Given the description of an element on the screen output the (x, y) to click on. 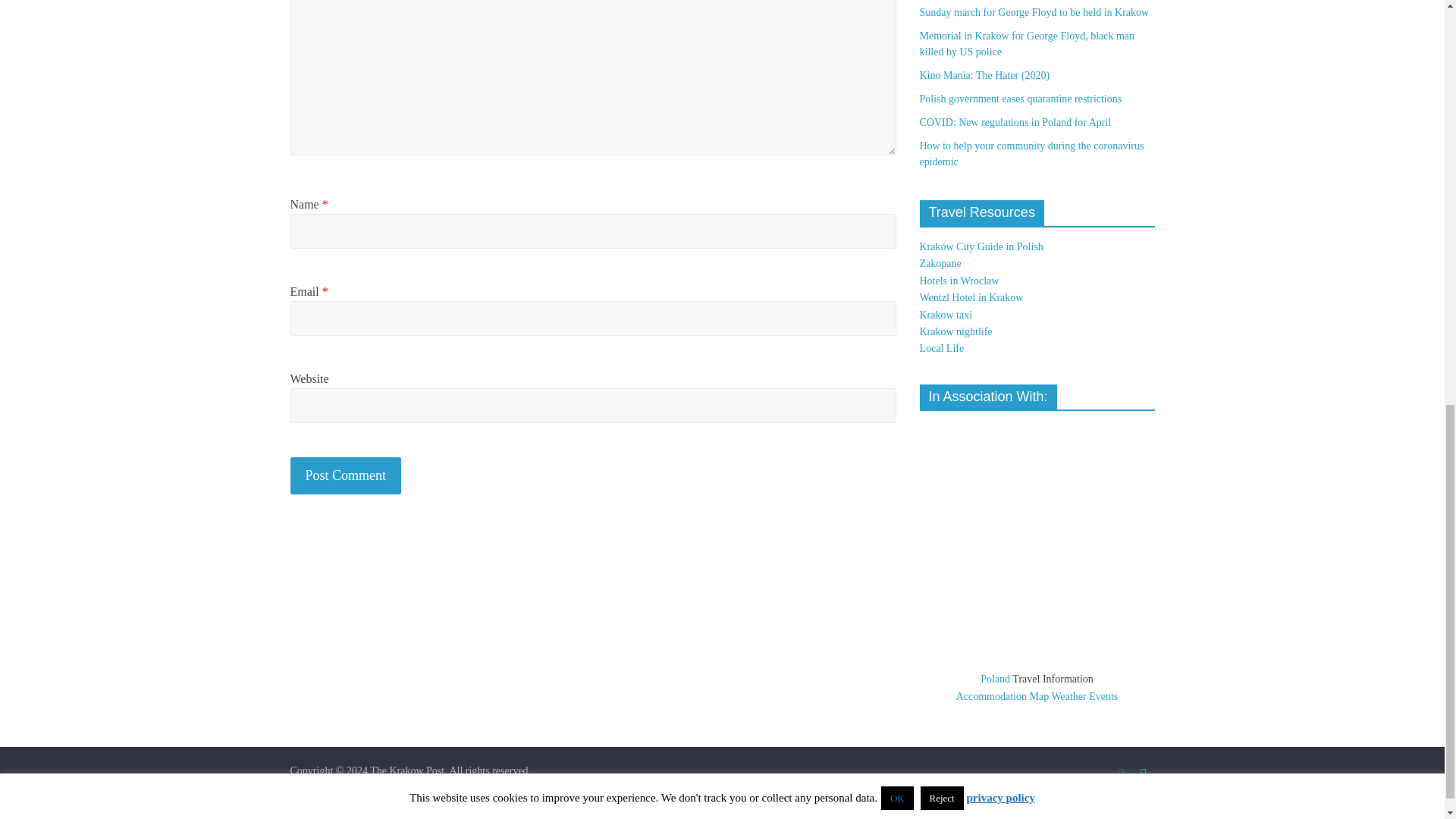
The Krakow Post (406, 770)
Post Comment (345, 475)
WordPress (514, 788)
ColorMag (346, 788)
